Given the description of an element on the screen output the (x, y) to click on. 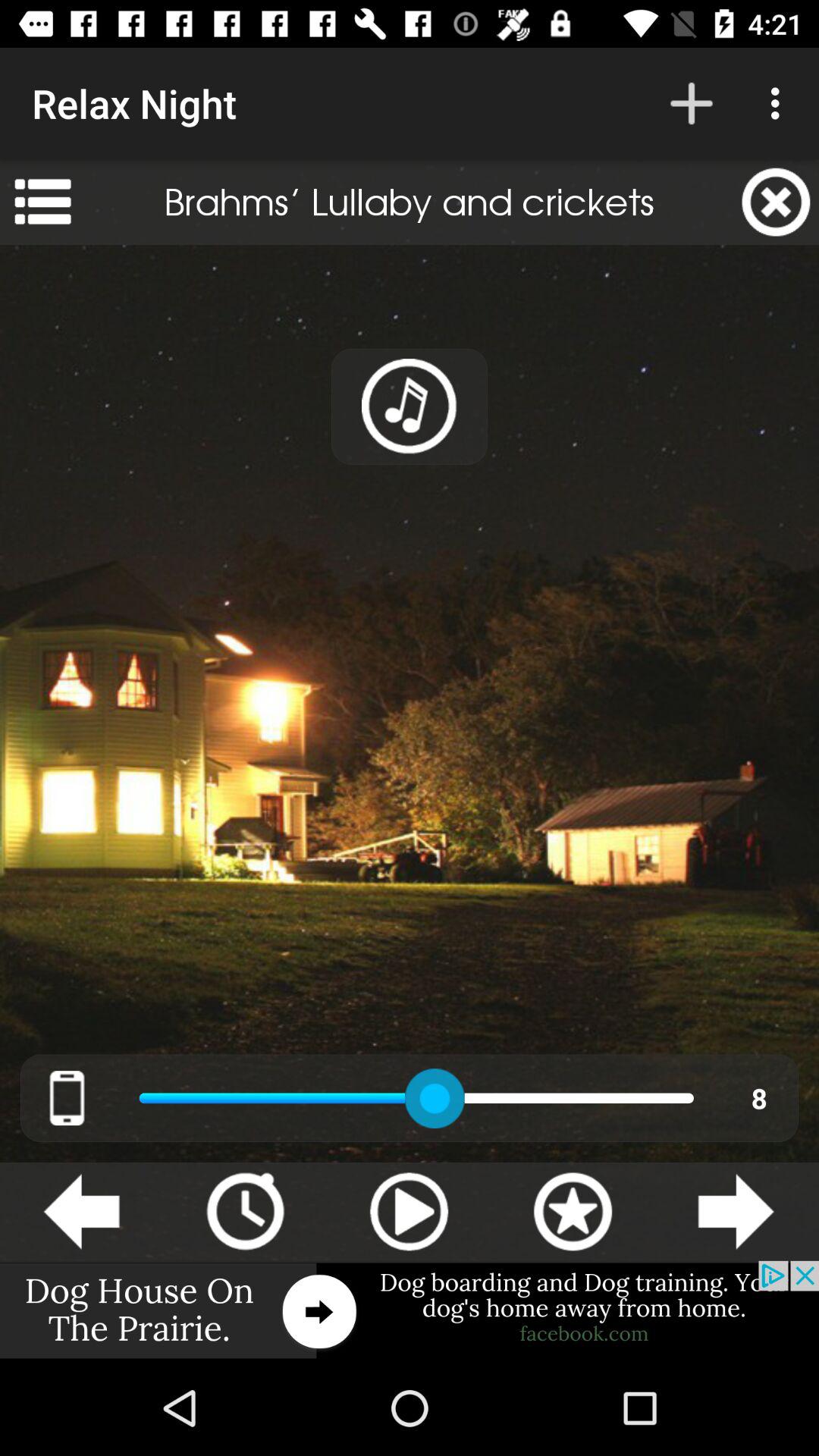
open the app next to brahms lullaby and (776, 202)
